Given the description of an element on the screen output the (x, y) to click on. 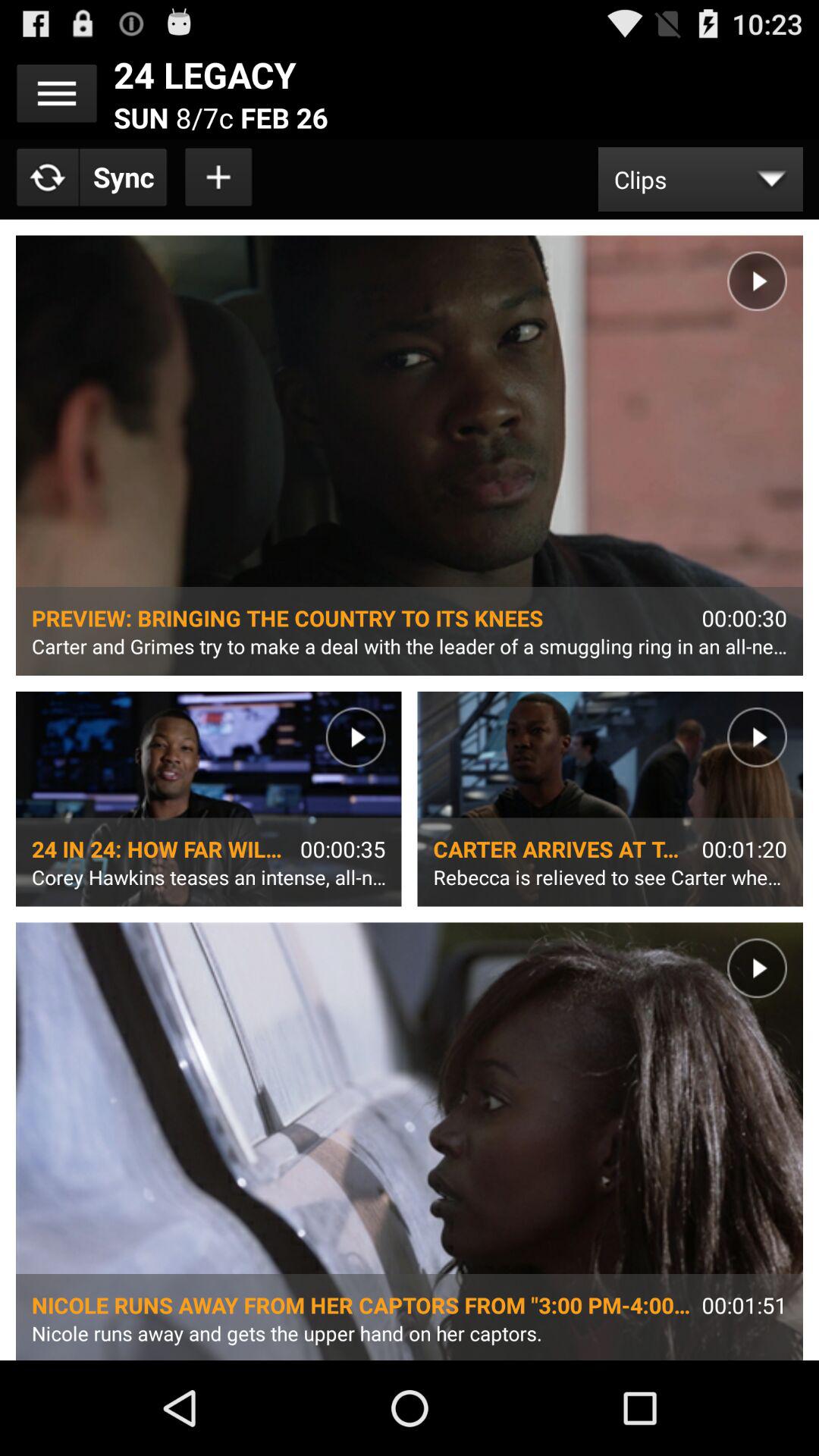
add item (219, 177)
